Given the description of an element on the screen output the (x, y) to click on. 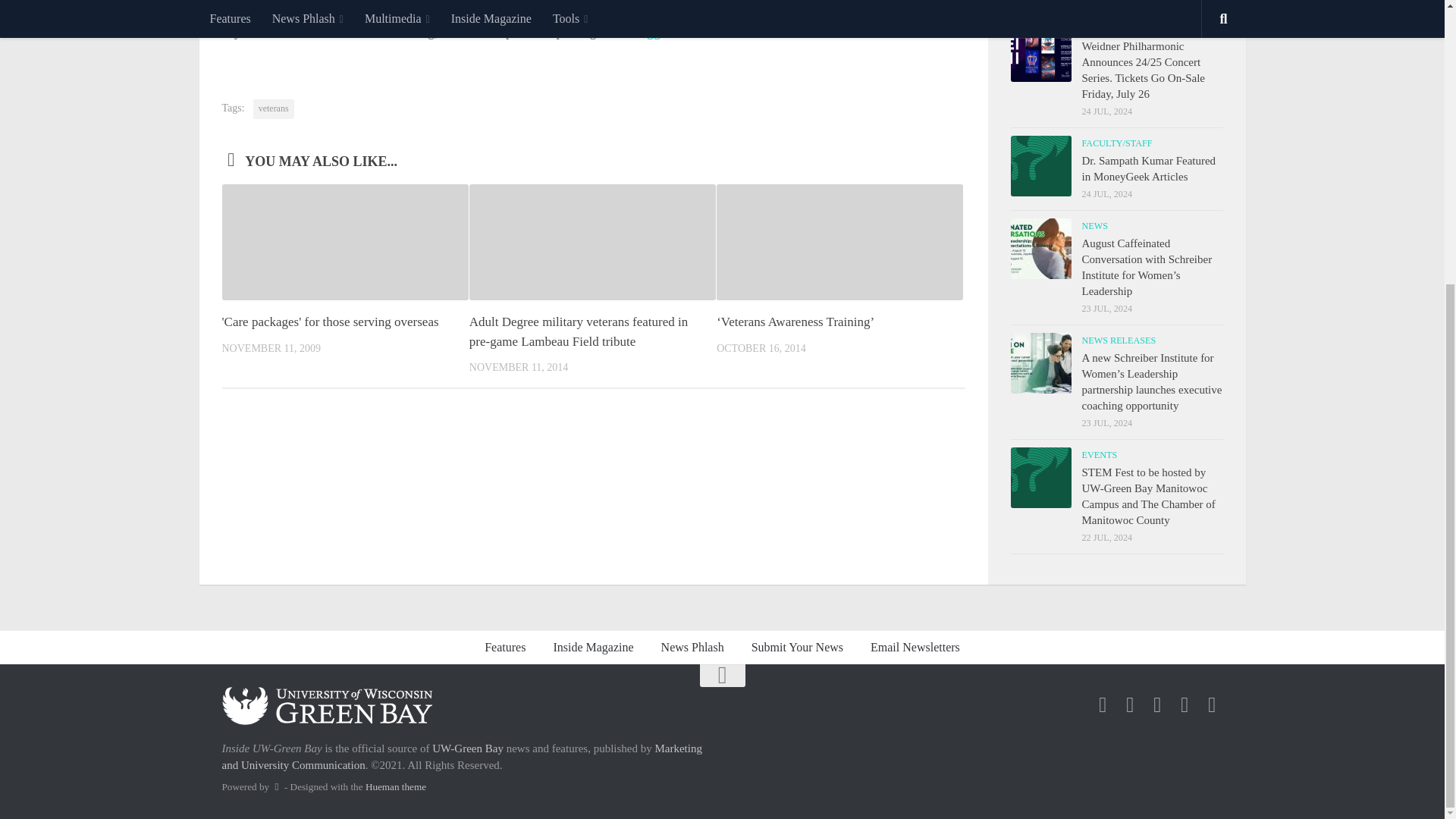
'Care packages' for those serving overseas (329, 321)
Tags (1169, 2)
Recent Posts (1063, 2)
veterans (273, 108)
suggestion list (673, 31)
